Given the description of an element on the screen output the (x, y) to click on. 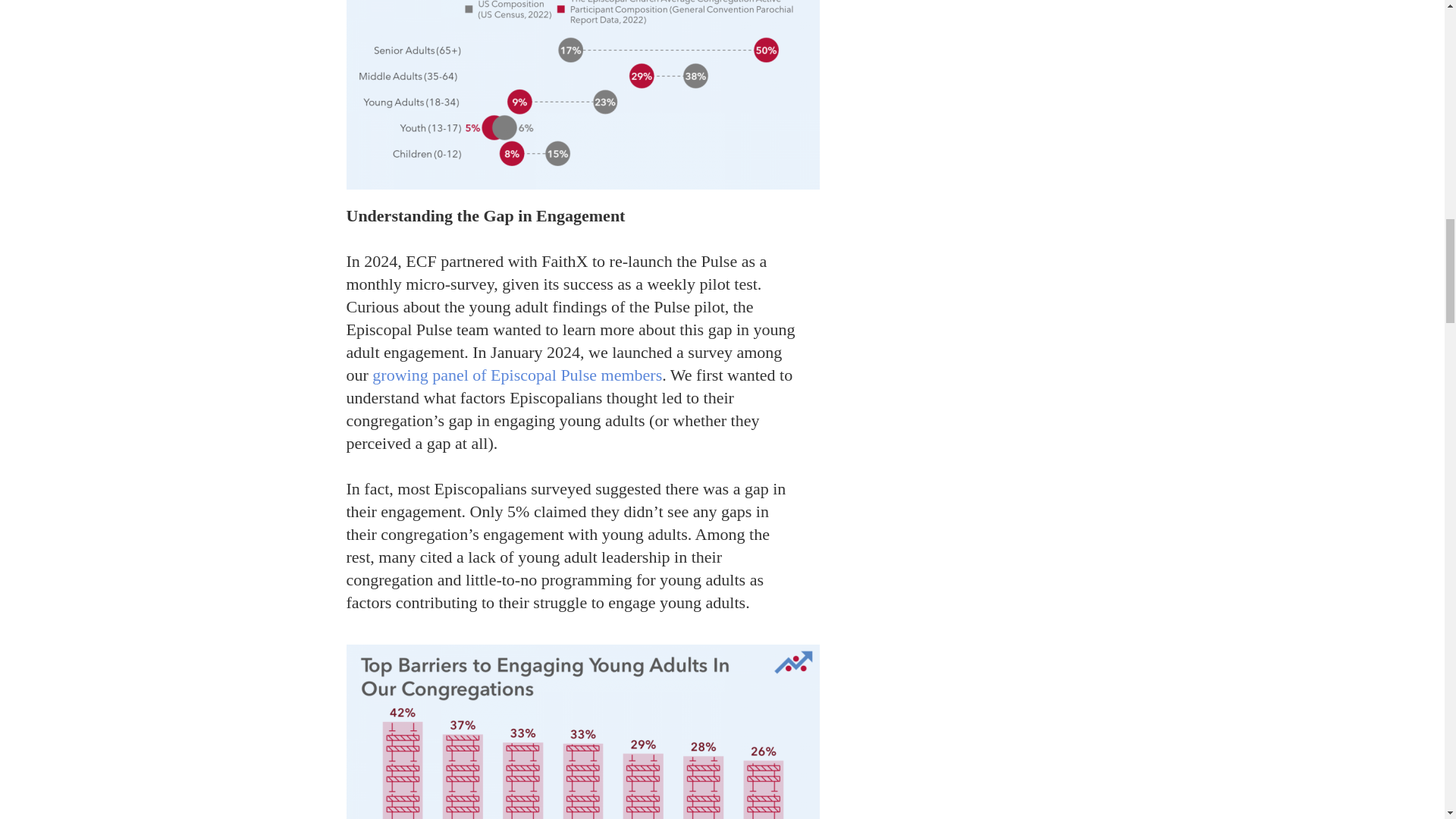
growing panel of Episcopal Pulse members (517, 374)
